Given the description of an element on the screen output the (x, y) to click on. 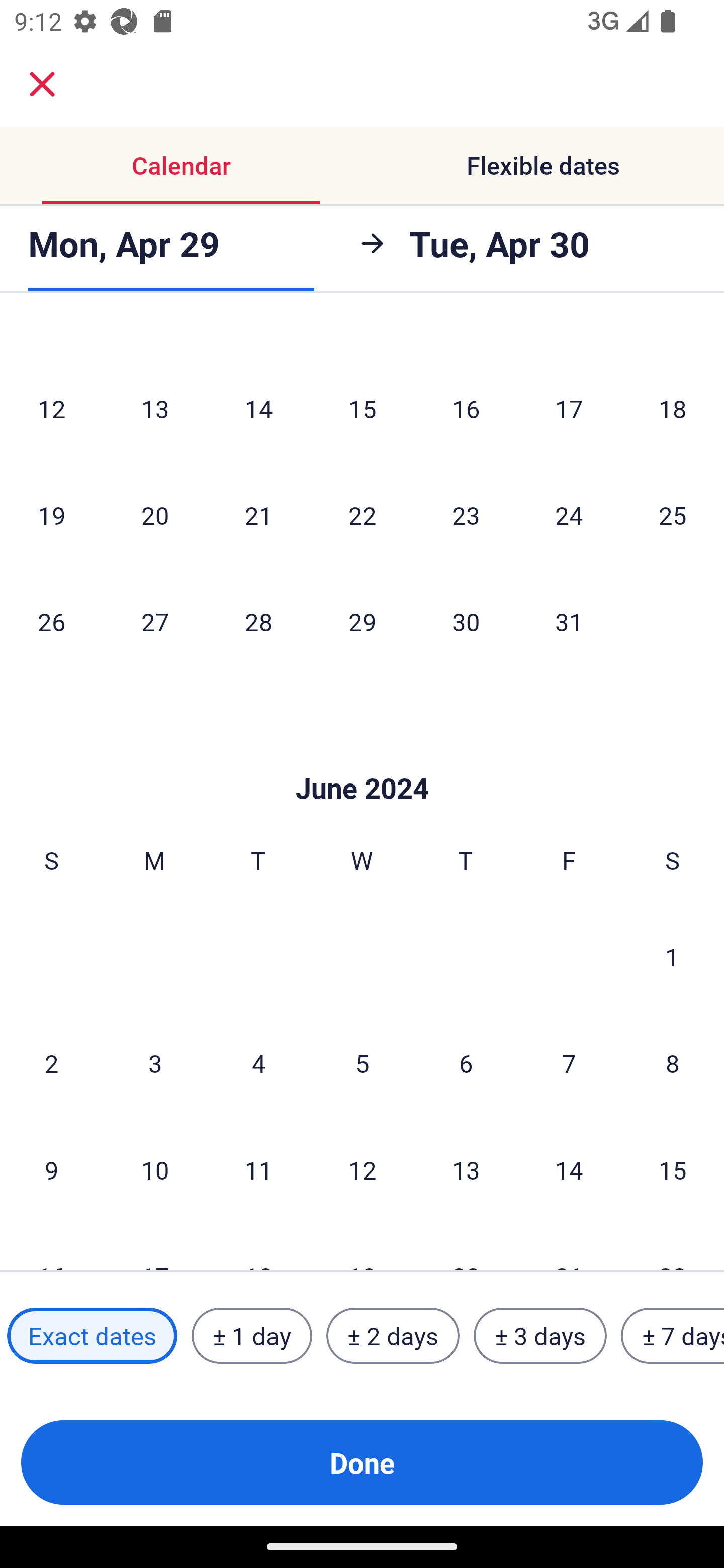
close. (42, 84)
Flexible dates (542, 164)
12 Sunday, May 12, 2024 (51, 408)
13 Monday, May 13, 2024 (155, 408)
14 Tuesday, May 14, 2024 (258, 408)
15 Wednesday, May 15, 2024 (362, 408)
16 Thursday, May 16, 2024 (465, 408)
17 Friday, May 17, 2024 (569, 408)
18 Saturday, May 18, 2024 (672, 408)
19 Sunday, May 19, 2024 (51, 515)
20 Monday, May 20, 2024 (155, 515)
21 Tuesday, May 21, 2024 (258, 515)
22 Wednesday, May 22, 2024 (362, 515)
23 Thursday, May 23, 2024 (465, 515)
24 Friday, May 24, 2024 (569, 515)
25 Saturday, May 25, 2024 (672, 515)
26 Sunday, May 26, 2024 (51, 620)
27 Monday, May 27, 2024 (155, 620)
28 Tuesday, May 28, 2024 (258, 620)
29 Wednesday, May 29, 2024 (362, 620)
30 Thursday, May 30, 2024 (465, 620)
31 Friday, May 31, 2024 (569, 620)
Skip to Done (362, 758)
1 Saturday, June 1, 2024 (672, 956)
2 Sunday, June 2, 2024 (51, 1062)
3 Monday, June 3, 2024 (155, 1062)
4 Tuesday, June 4, 2024 (258, 1062)
5 Wednesday, June 5, 2024 (362, 1062)
6 Thursday, June 6, 2024 (465, 1062)
7 Friday, June 7, 2024 (569, 1062)
8 Saturday, June 8, 2024 (672, 1062)
9 Sunday, June 9, 2024 (51, 1169)
10 Monday, June 10, 2024 (155, 1169)
11 Tuesday, June 11, 2024 (258, 1169)
12 Wednesday, June 12, 2024 (362, 1169)
13 Thursday, June 13, 2024 (465, 1169)
14 Friday, June 14, 2024 (569, 1169)
15 Saturday, June 15, 2024 (672, 1169)
Exact dates (92, 1335)
± 1 day (251, 1335)
± 2 days (392, 1335)
± 3 days (539, 1335)
± 7 days (672, 1335)
Done (361, 1462)
